Given the description of an element on the screen output the (x, y) to click on. 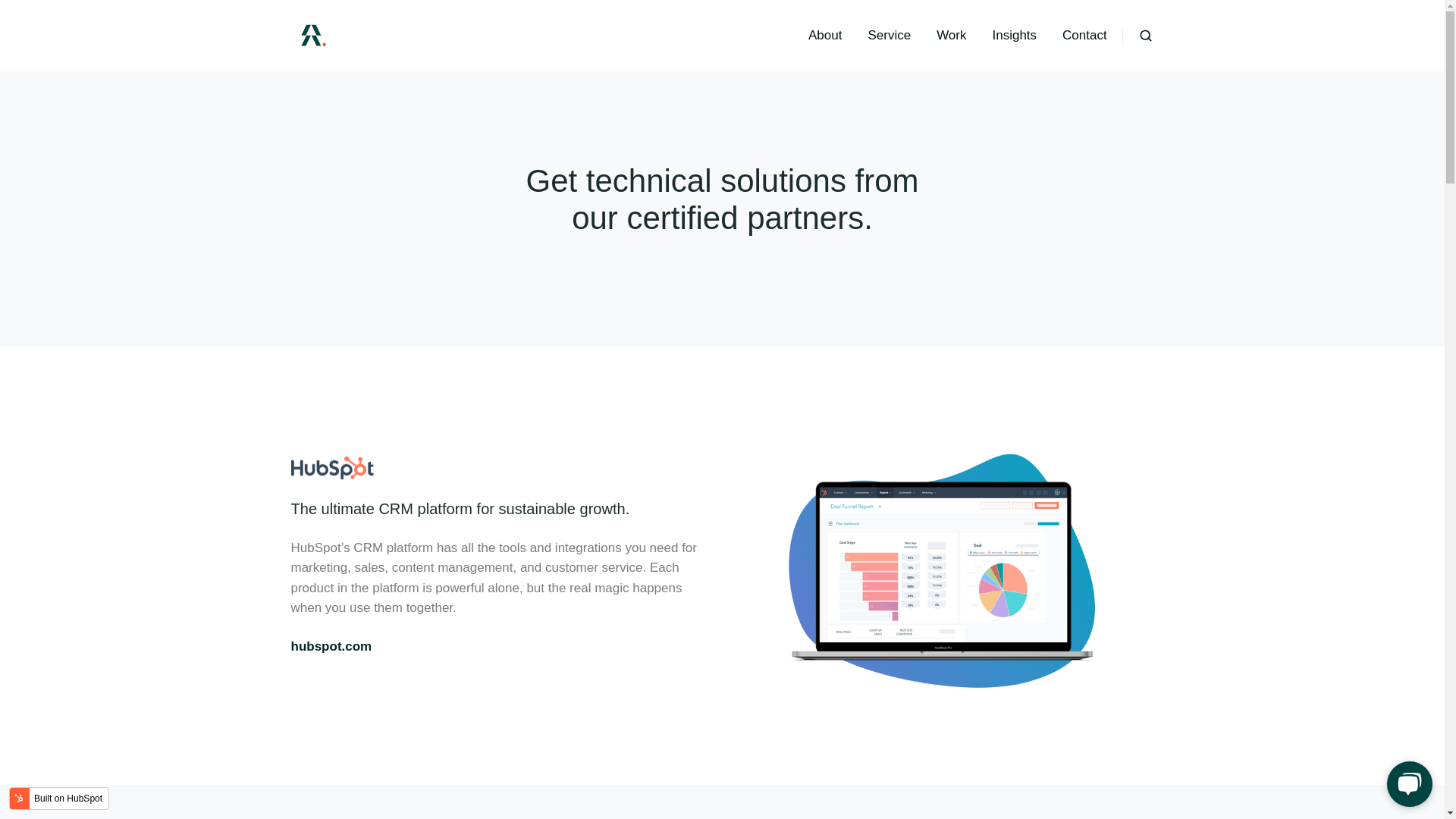
Service (889, 35)
About (824, 35)
Insights (1013, 35)
hubspot.com (331, 646)
Contact (1084, 35)
